Given the description of an element on the screen output the (x, y) to click on. 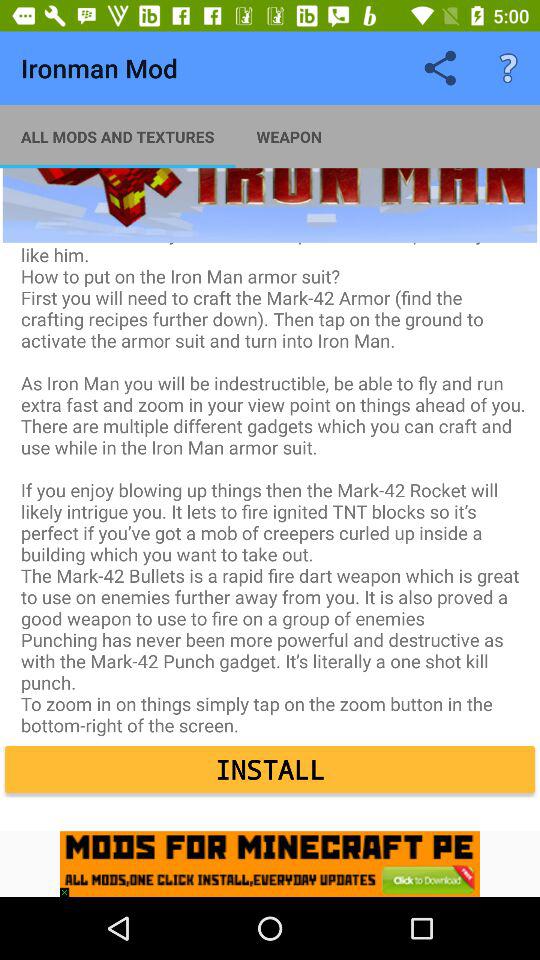
select icon above the the iron man (508, 67)
